Given the description of an element on the screen output the (x, y) to click on. 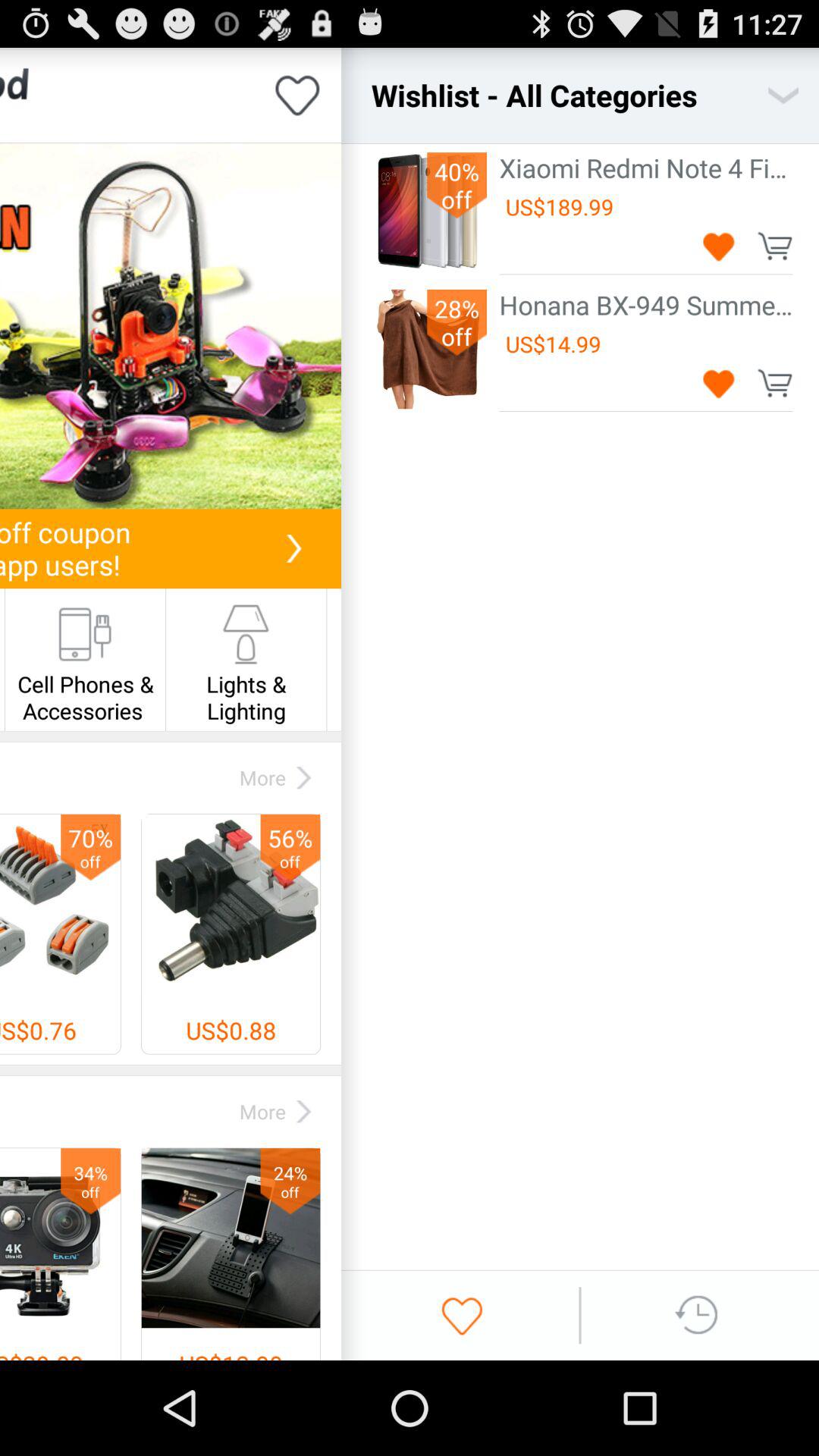
unsave this item (719, 382)
